Given the description of an element on the screen output the (x, y) to click on. 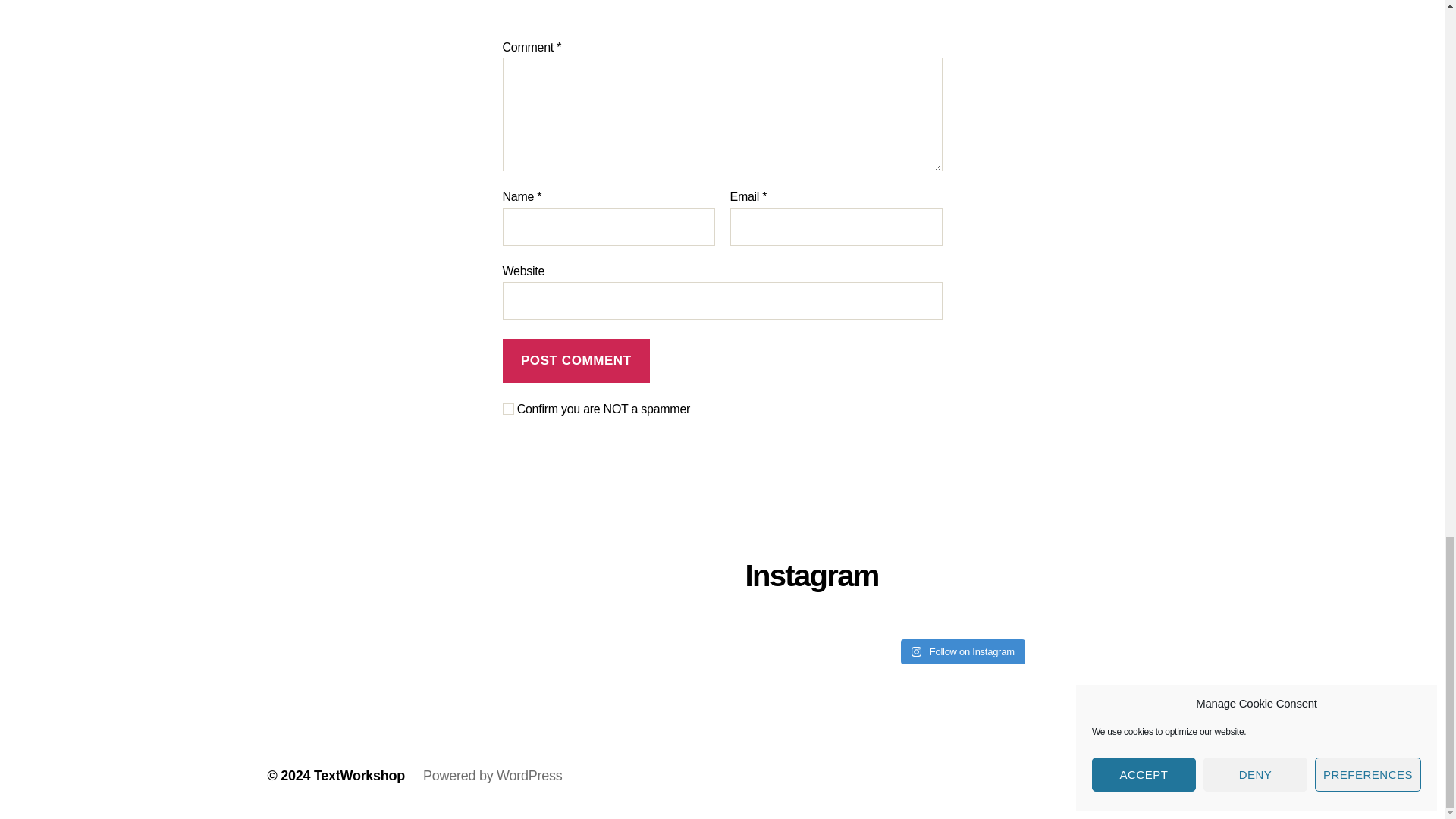
Post Comment (575, 361)
Powered by WordPress (492, 775)
Follow on Instagram (963, 652)
TextWorkshop (359, 775)
on (507, 408)
Post Comment (575, 361)
